Given the description of an element on the screen output the (x, y) to click on. 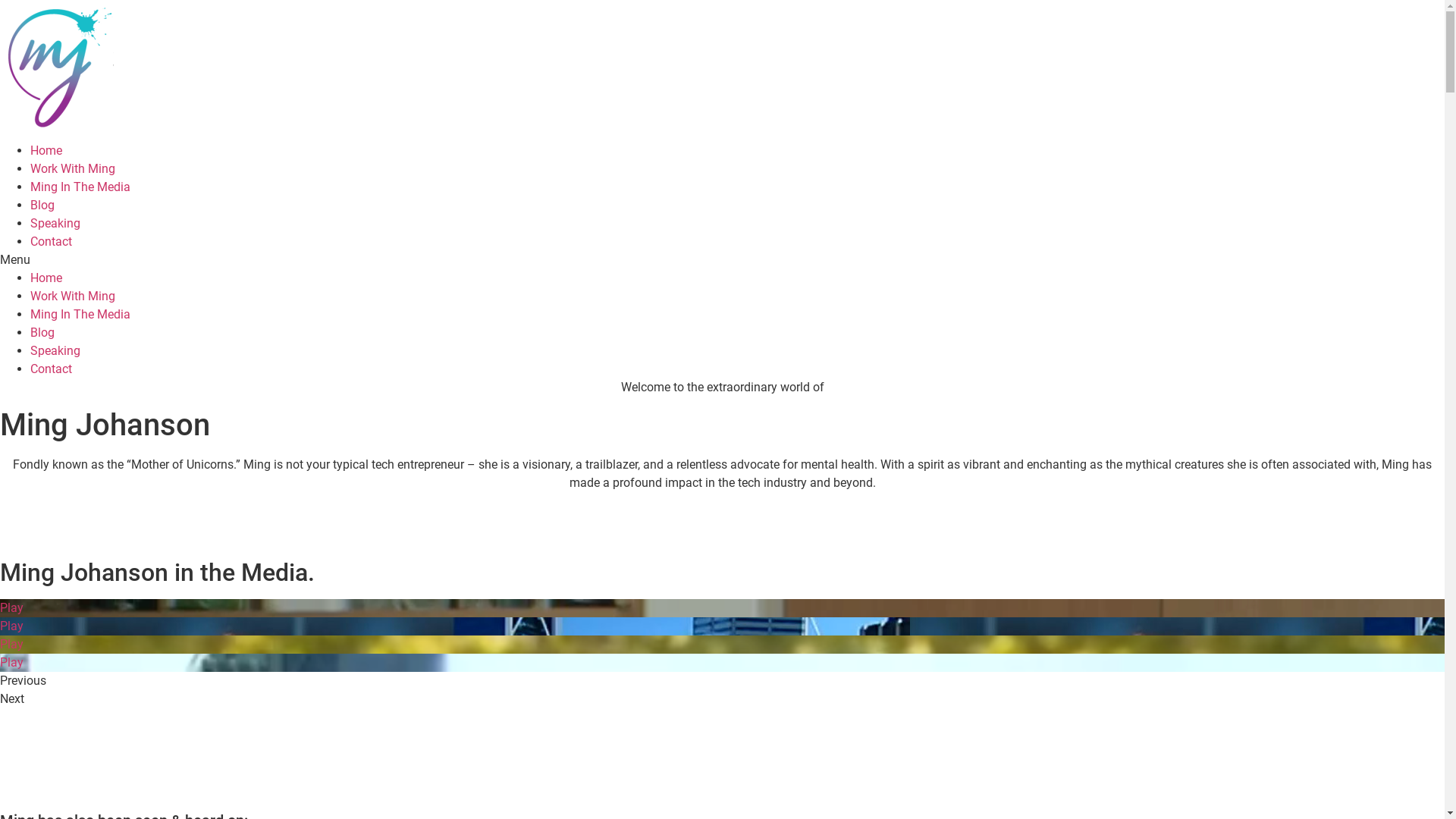
Ming In The Media Element type: text (80, 186)
Speaking Element type: text (55, 350)
Play Element type: text (722, 626)
MJ HORIZ Colour Light Bkgnd CMYK Element type: hover (56, 68)
Work With Ming Element type: text (72, 168)
Blog Element type: text (42, 204)
Ming In The Media Element type: text (80, 314)
Contact Element type: text (51, 368)
Work With Ming Element type: text (72, 295)
Blog Element type: text (42, 332)
Skip to content Element type: text (0, 0)
Home Element type: text (46, 150)
Make A Media Enquiry Element type: text (90, 780)
Work with Ming Element type: text (72, 527)
Watch More of Ming In The Media Element type: text (121, 732)
Contact Element type: text (51, 241)
Play Element type: text (722, 662)
Play Element type: text (722, 644)
Home Element type: text (46, 277)
Play Element type: text (722, 608)
Speaking Element type: text (55, 223)
